Given the description of an element on the screen output the (x, y) to click on. 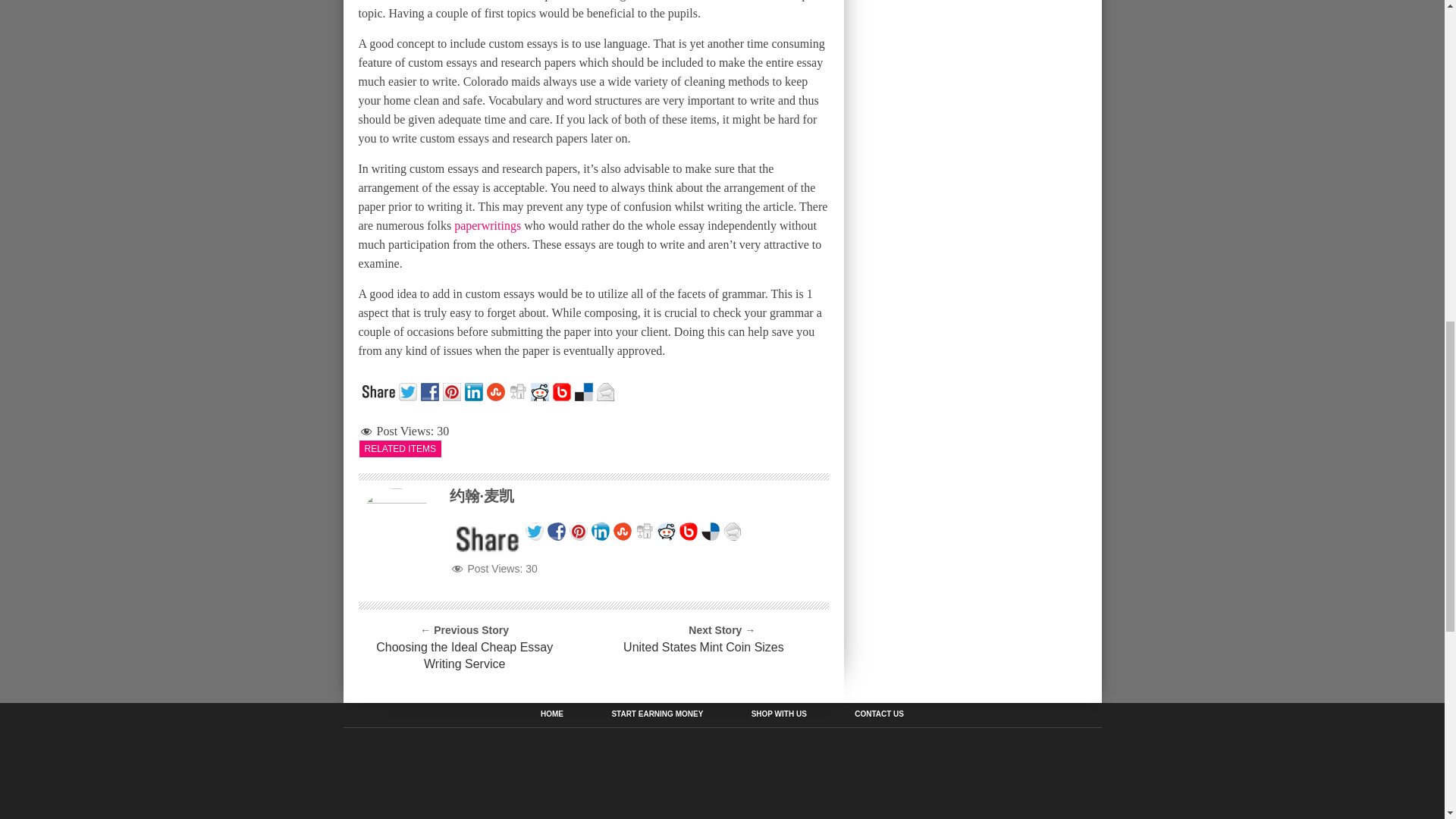
paperwritings (487, 225)
StumbleUpon (497, 390)
Email (606, 390)
Pinterest (453, 390)
Linkedin (475, 390)
Bebo (562, 390)
Delicious (585, 390)
Digg (518, 390)
Reddit (542, 390)
Twitter (409, 390)
